Given the description of an element on the screen output the (x, y) to click on. 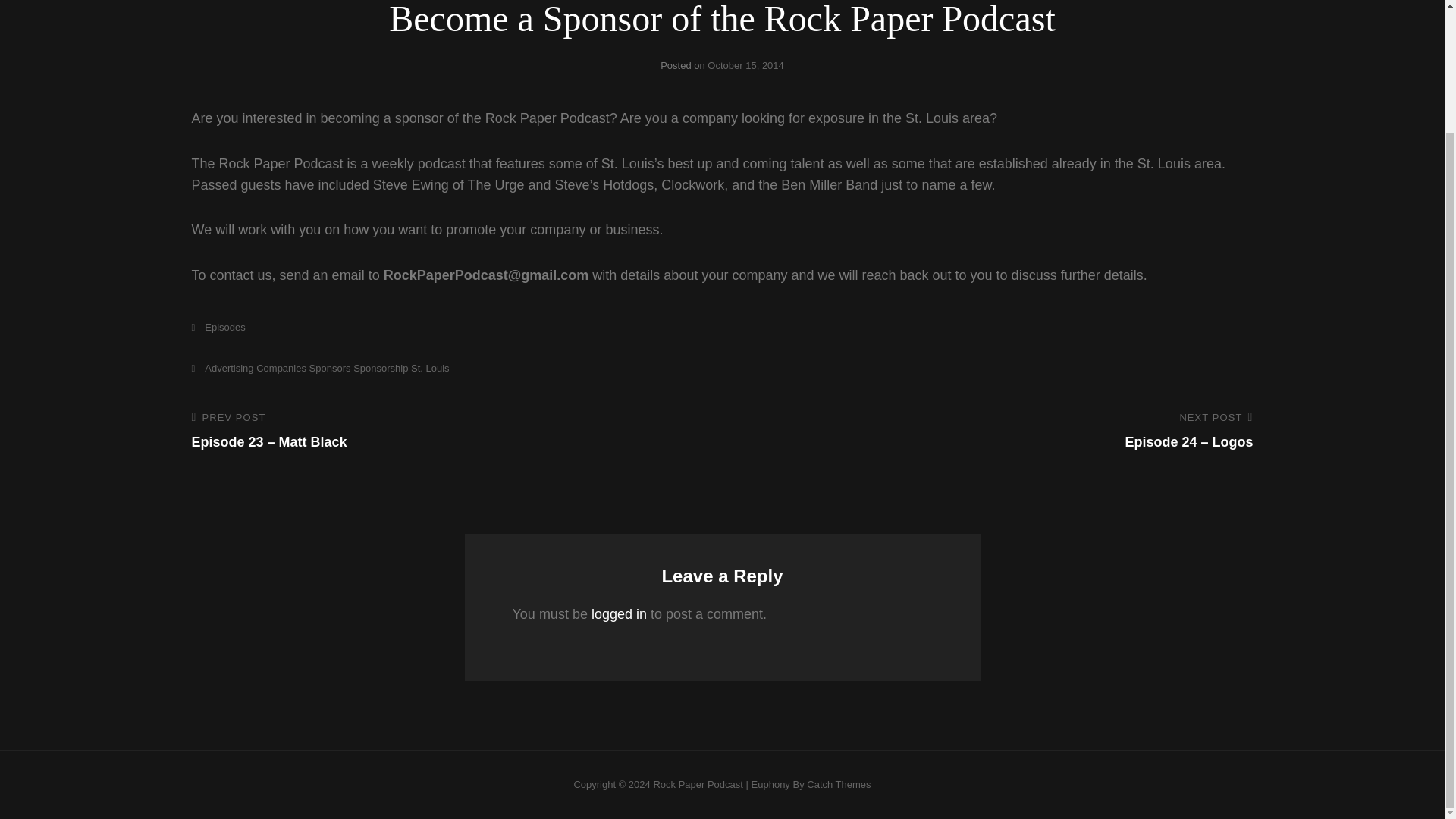
Sponsorship (380, 367)
logged in (618, 613)
Companies (280, 367)
Catch Themes (838, 784)
Episodes (217, 326)
St. Louis (429, 367)
Sponsors (329, 367)
Rock Paper Podcast (697, 784)
Advertising (221, 367)
October 15, 2014 (745, 65)
